Given the description of an element on the screen output the (x, y) to click on. 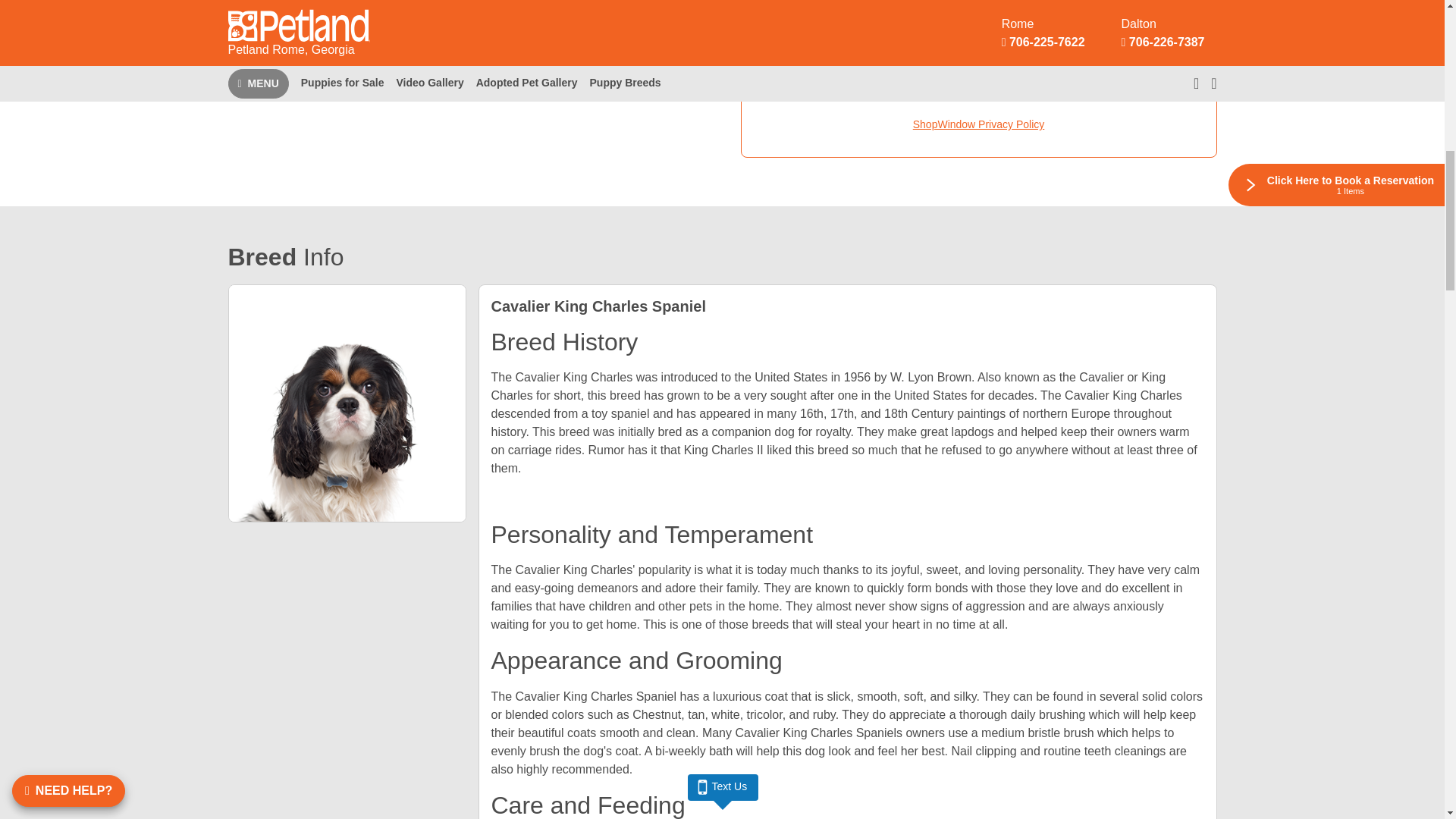
Submit (1172, 74)
